Given the description of an element on the screen output the (x, y) to click on. 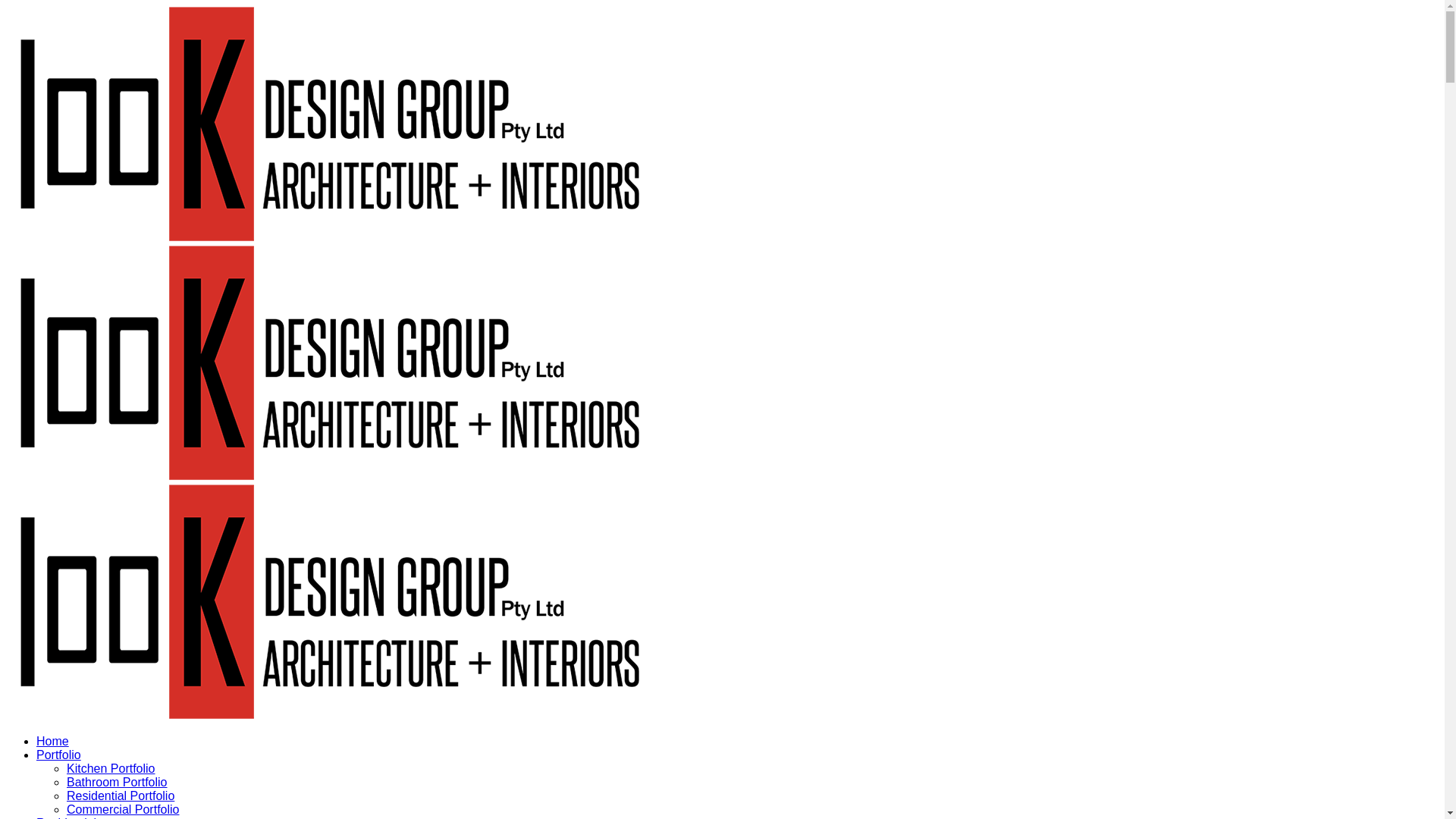
Home Element type: text (52, 740)
Residential Portfolio Element type: text (120, 795)
Commercial Portfolio Element type: text (122, 809)
Bathroom Portfolio Element type: text (116, 781)
Portfolio Element type: text (58, 754)
Kitchen Portfolio Element type: text (110, 768)
